Given the description of an element on the screen output the (x, y) to click on. 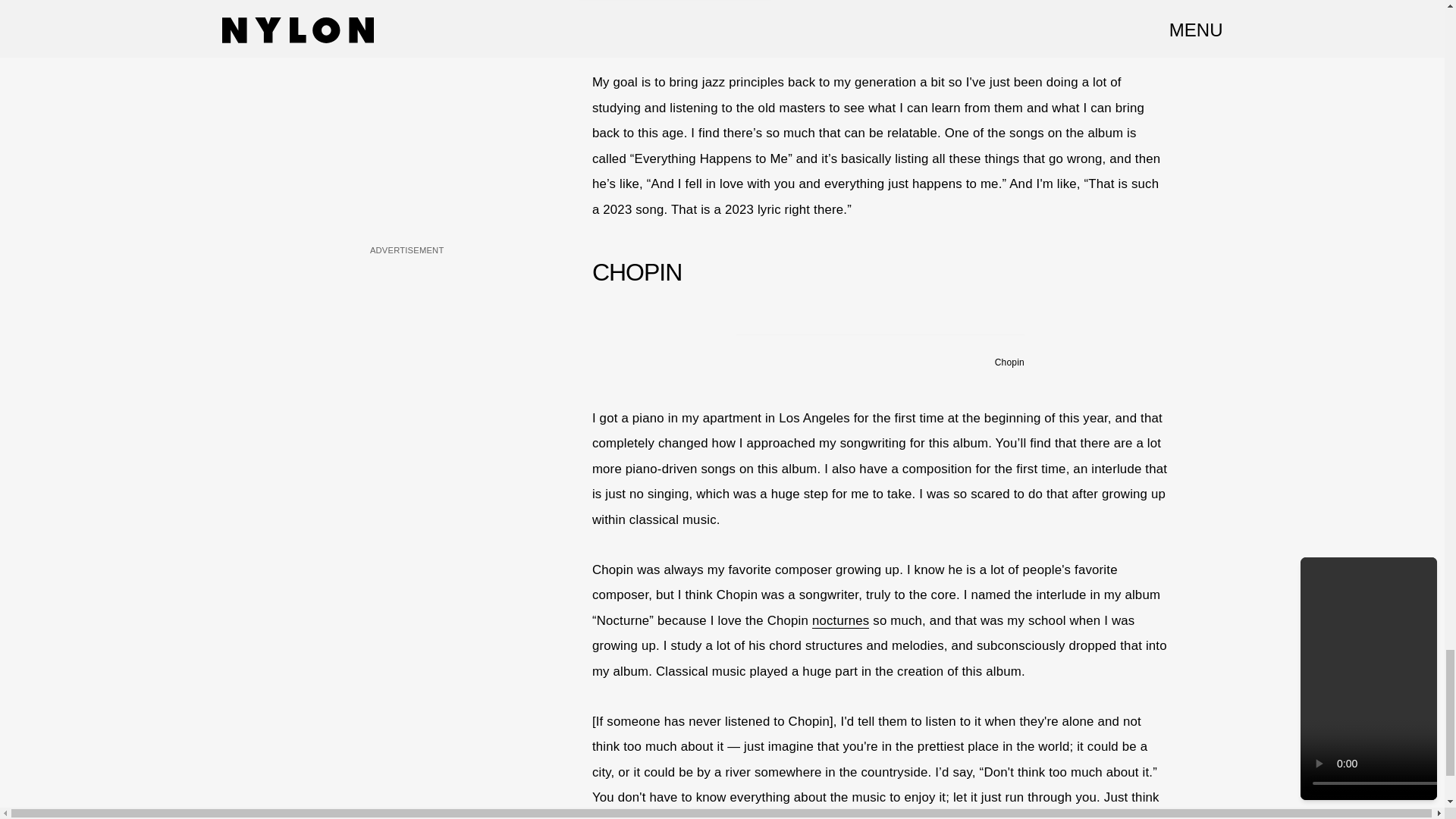
nocturnes (840, 620)
